Given the description of an element on the screen output the (x, y) to click on. 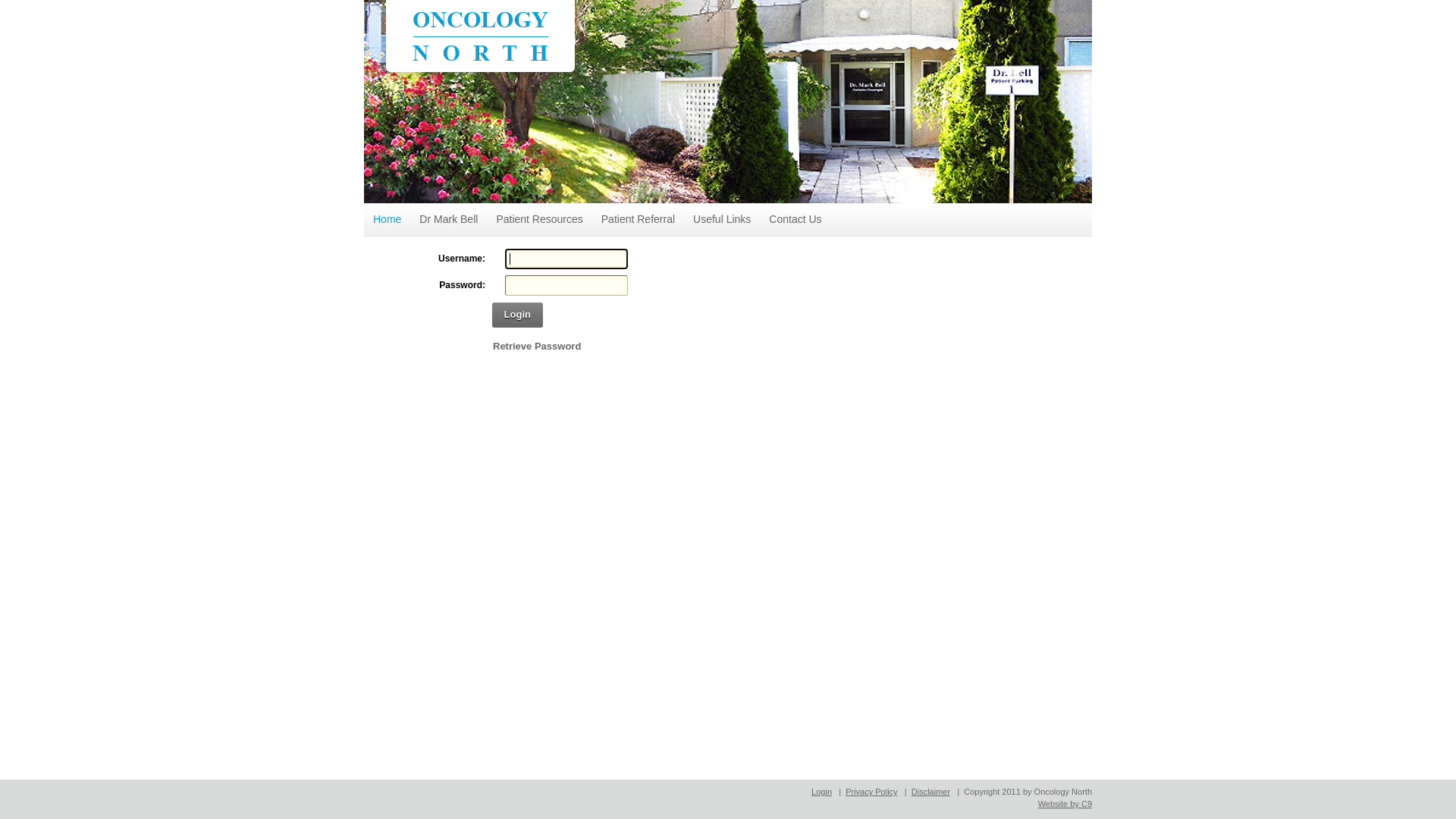
Dr Mark Bell Element type: text (448, 219)
Patient Resources Element type: text (538, 219)
Retrieve Password Element type: text (536, 345)
Useful Links Element type: text (721, 219)
Contact Us Element type: text (794, 219)
Patient Referral Element type: text (638, 219)
Disclaimer Element type: text (930, 791)
Home Element type: text (387, 219)
Website by C9 Element type: text (1065, 803)
Login Element type: text (517, 314)
Privacy Policy Element type: text (871, 791)
Login Element type: text (821, 791)
